Given the description of an element on the screen output the (x, y) to click on. 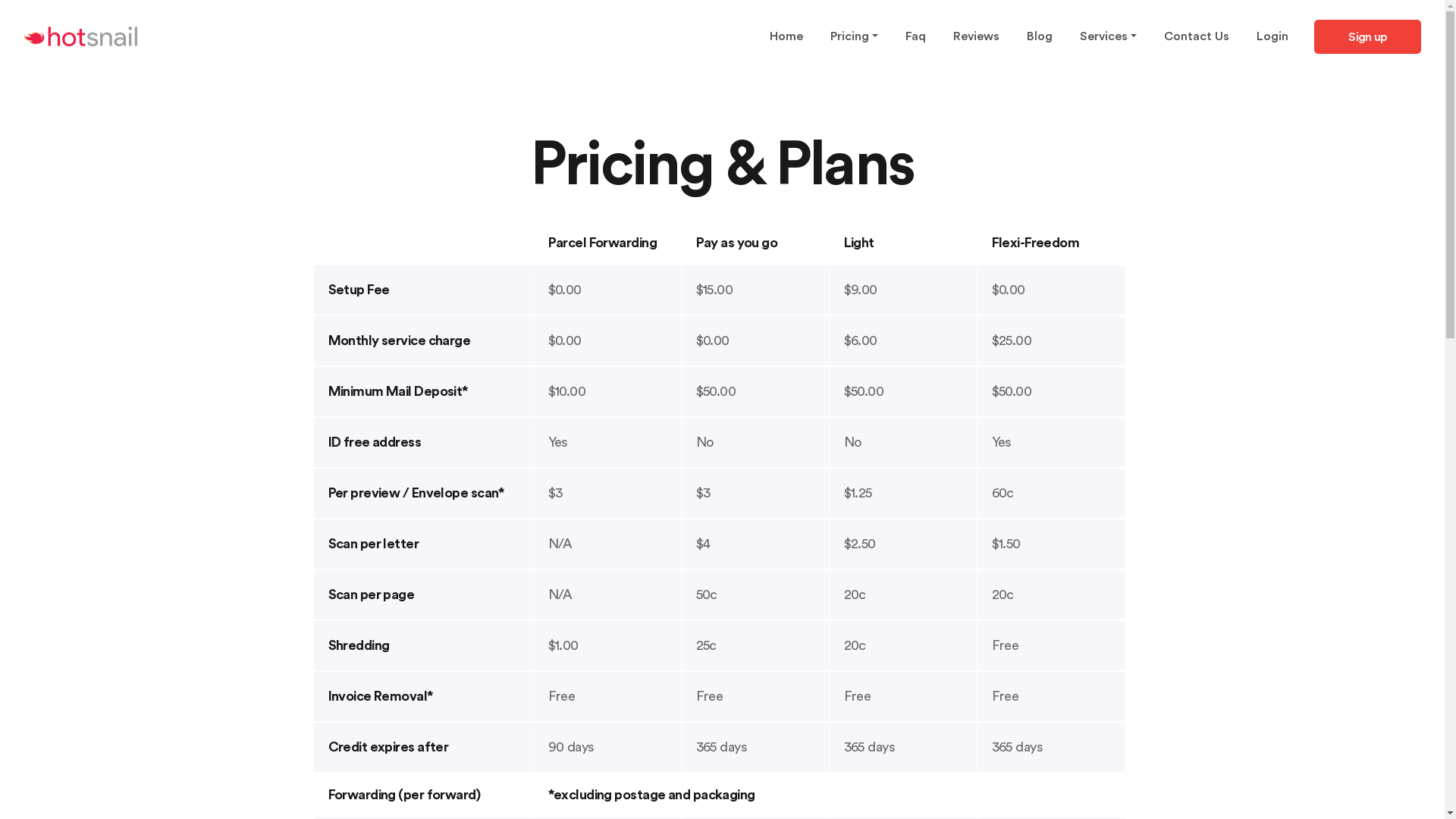
Login Element type: text (1272, 36)
Reviews Element type: text (976, 36)
Sign up Element type: text (1367, 36)
Faq Element type: text (915, 36)
Pricing Element type: text (853, 36)
Contact Us Element type: text (1196, 36)
Home Element type: text (786, 36)
Blog Element type: text (1039, 36)
Services Element type: text (1108, 36)
